Given the description of an element on the screen output the (x, y) to click on. 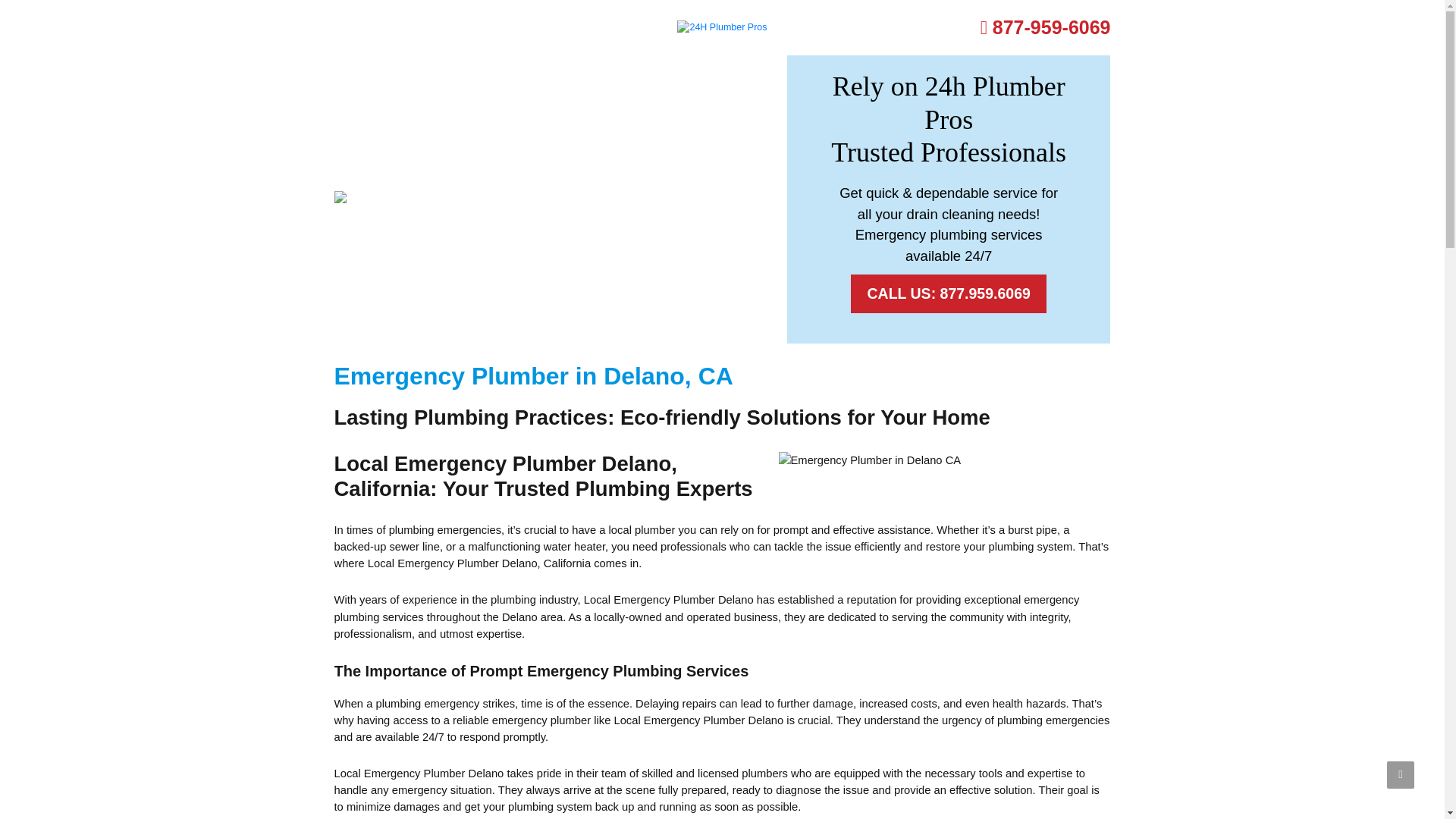
Back To Top (1400, 774)
877-959-6069 (1044, 26)
CALL US: 877.959.6069 (947, 293)
24H Plumber Pros (722, 27)
Call Us Now (1044, 26)
